Given the description of an element on the screen output the (x, y) to click on. 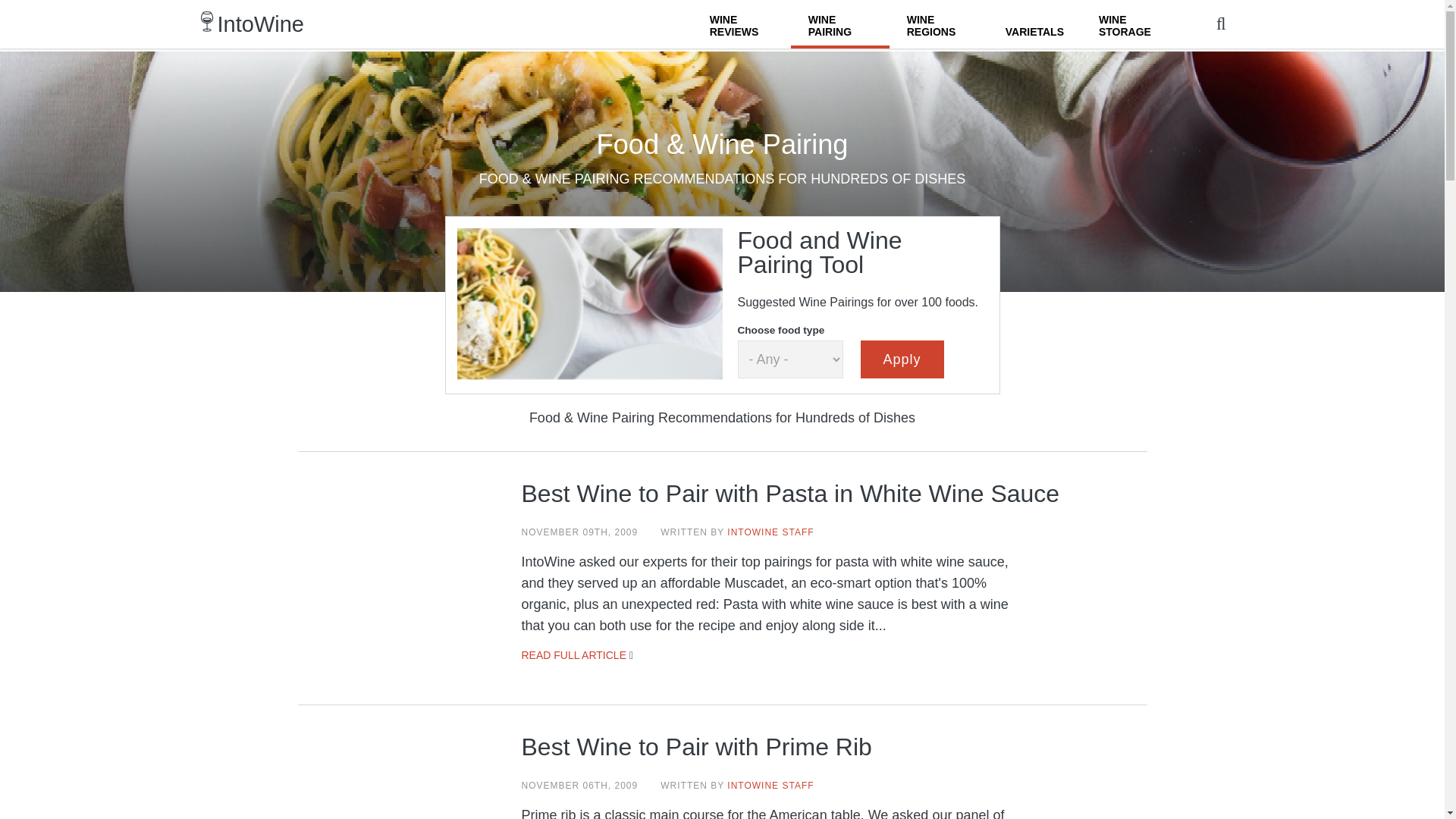
WINE PAIRING (839, 24)
Wine Regions (938, 24)
Wine Reviews (741, 24)
VARIETALS (1034, 24)
View user profile. (769, 531)
READ FULL ARTICLE (574, 654)
Wine Storage (1130, 24)
Varietals (1034, 24)
Apply (901, 359)
Apply (901, 359)
Home (260, 24)
WINE REGIONS (938, 24)
WINE STORAGE (1130, 24)
Best Wine to Pair with Prime Rib (696, 746)
